Given the description of an element on the screen output the (x, y) to click on. 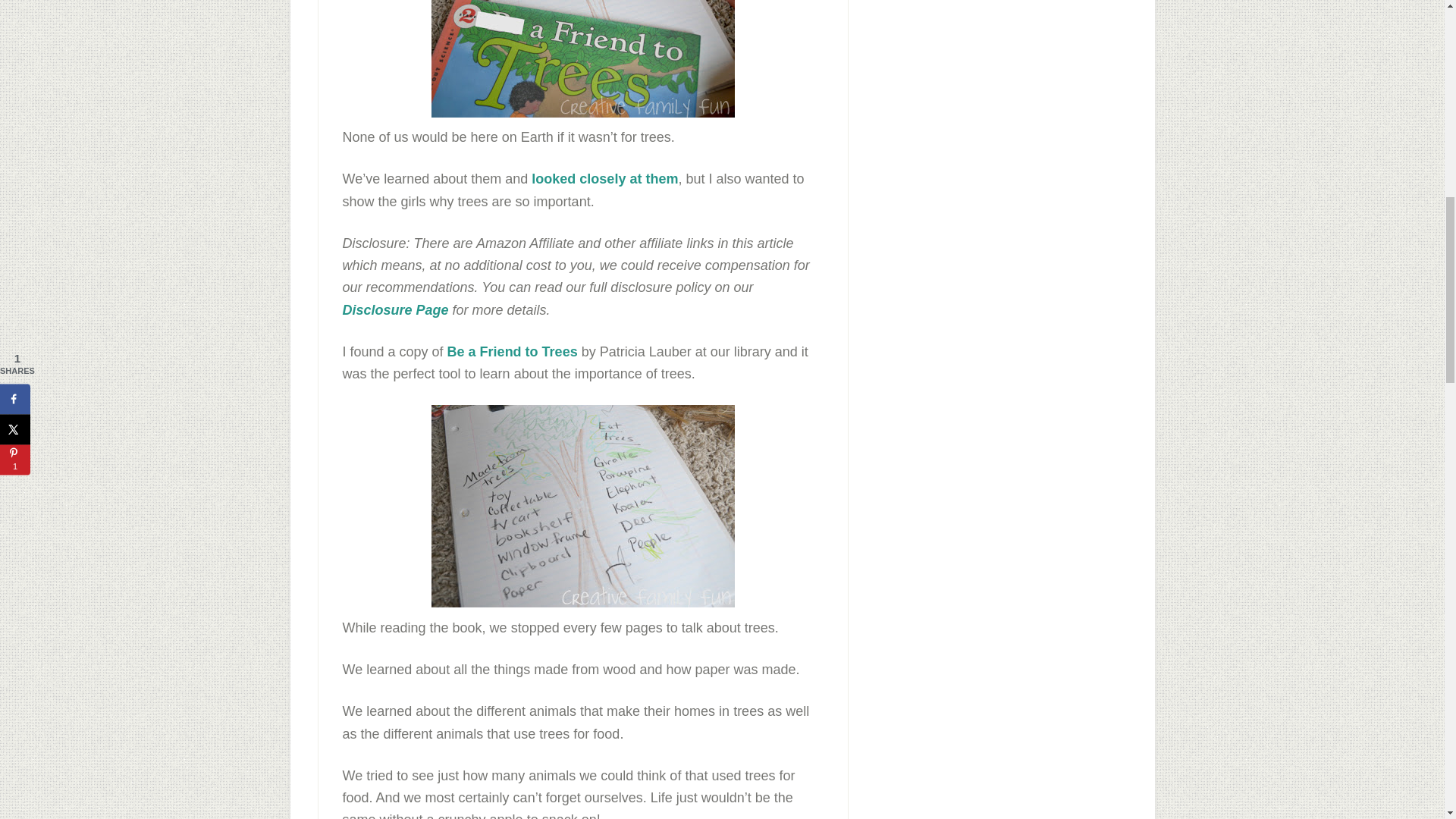
Disclosure Page (395, 309)
looked closely at them (604, 178)
Be a Friend to Trees (512, 351)
